Given the description of an element on the screen output the (x, y) to click on. 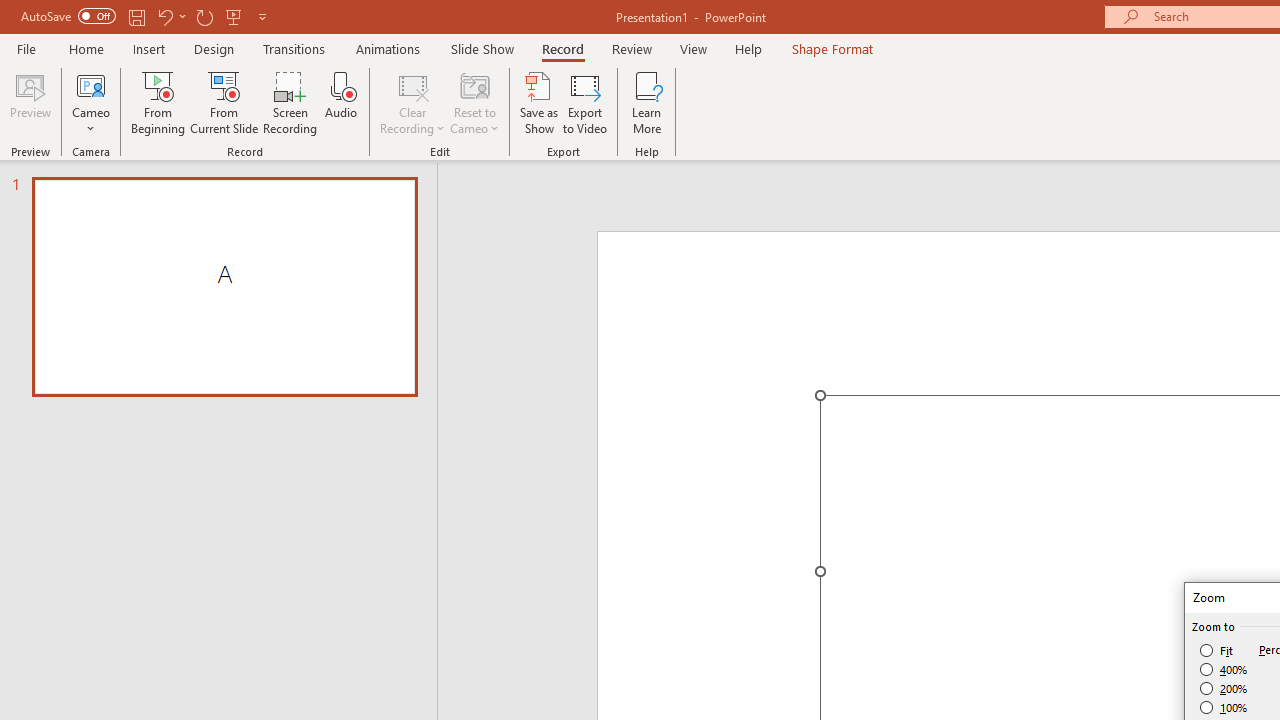
Fit (1217, 650)
100% (1224, 707)
